Given the description of an element on the screen output the (x, y) to click on. 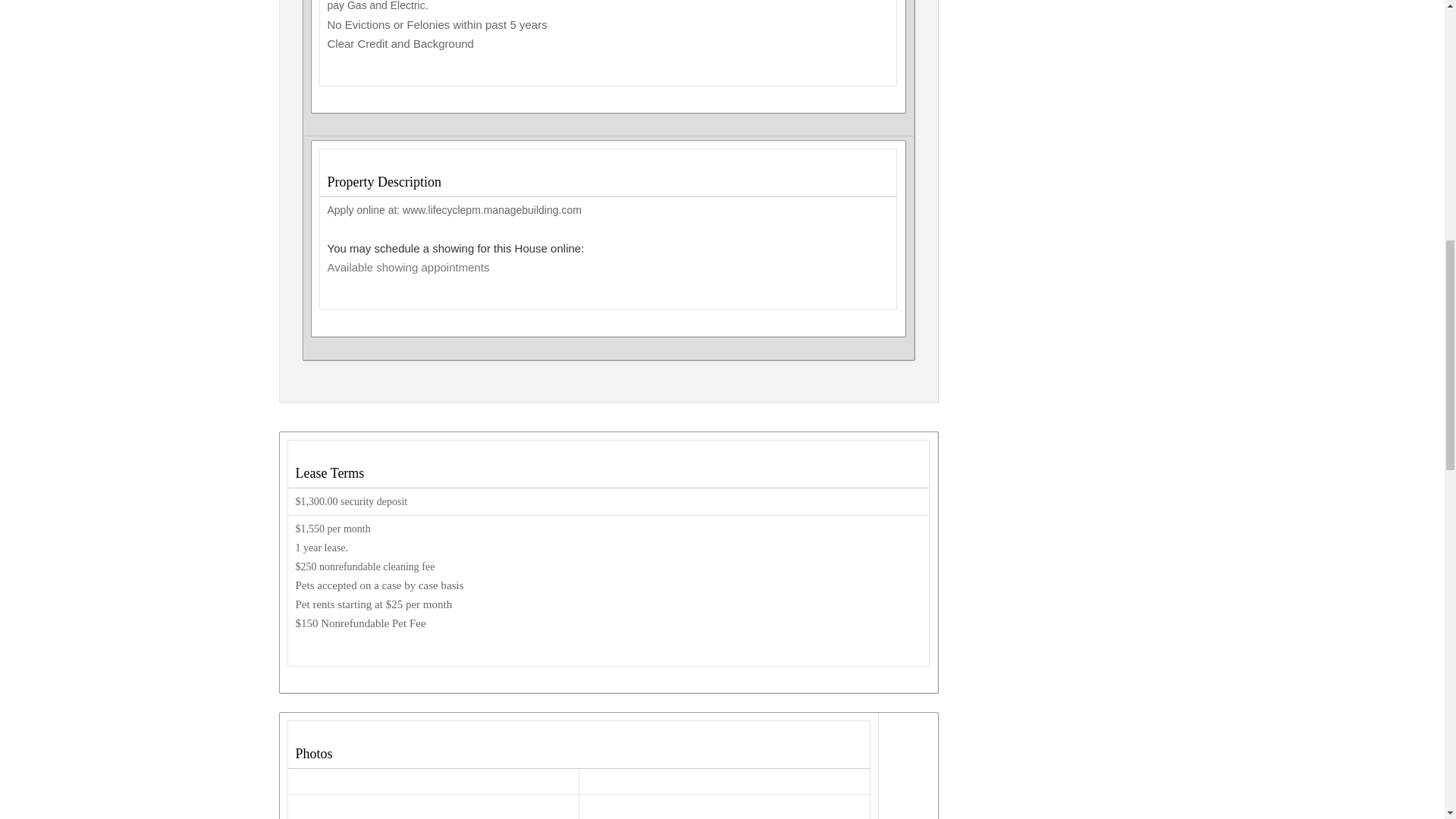
Available showing appointments (408, 267)
